Given the description of an element on the screen output the (x, y) to click on. 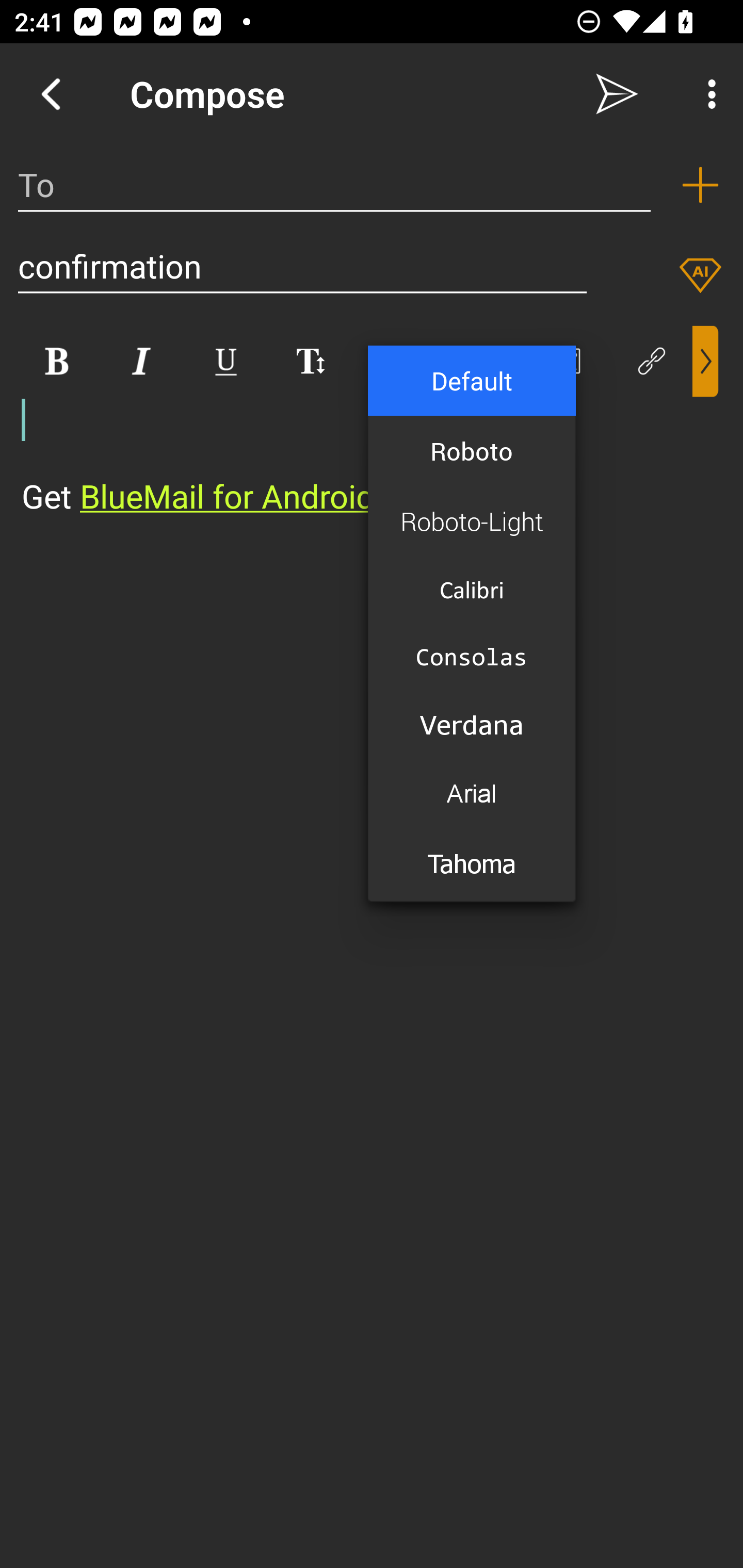
Default (471, 379)
Roboto (471, 450)
Roboto-Light (471, 521)
Calibri (471, 589)
Consolas (471, 655)
Verdana (471, 723)
Arial (471, 793)
Tahoma (471, 865)
